Given the description of an element on the screen output the (x, y) to click on. 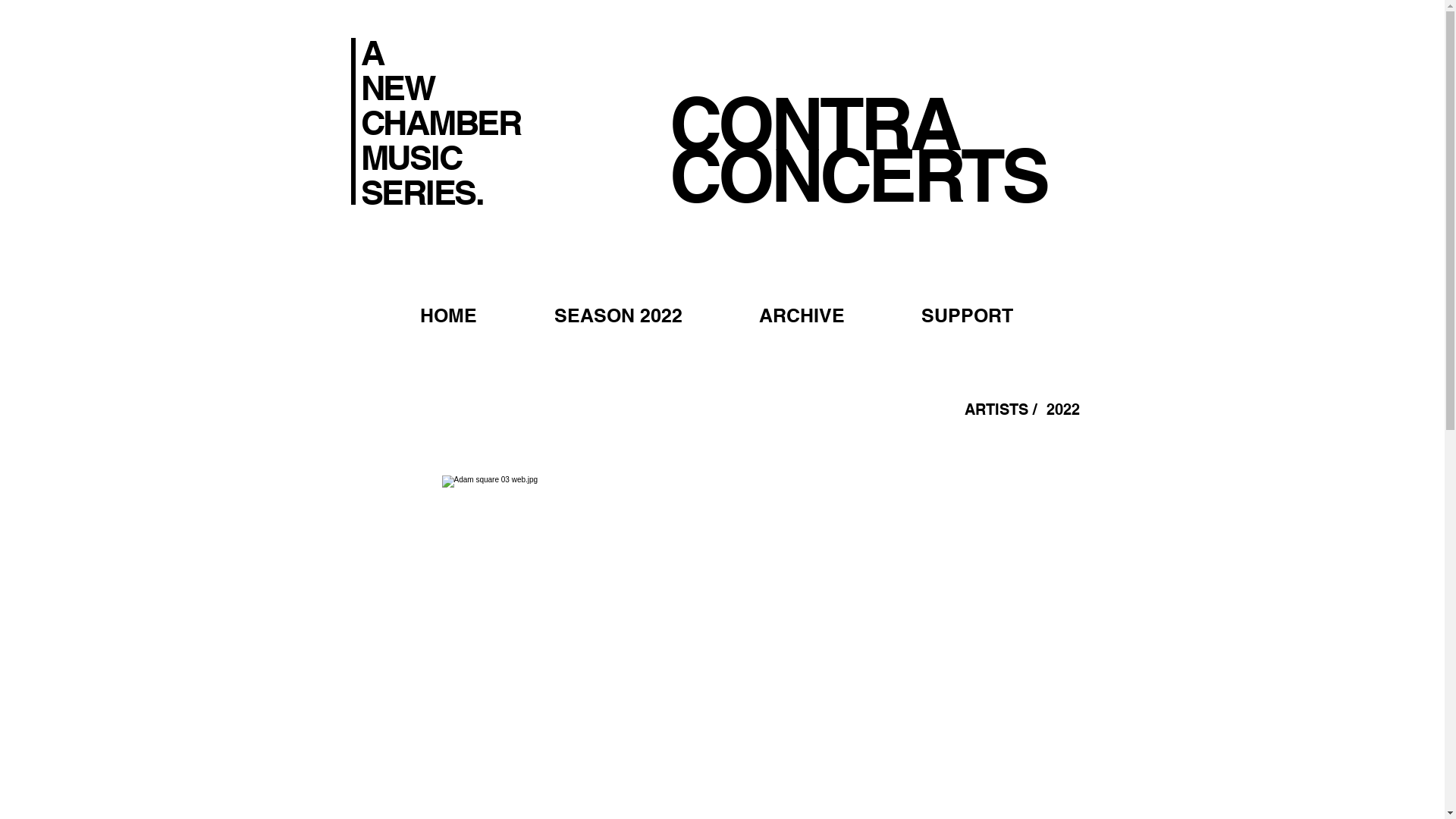
SEASON 2022 Element type: text (618, 315)
ARCHIVE Element type: text (801, 315)
SUPPORT Element type: text (966, 315)
ARTISTS /  2022 Element type: text (1021, 409)
HOME Element type: text (447, 315)
